Given the description of an element on the screen output the (x, y) to click on. 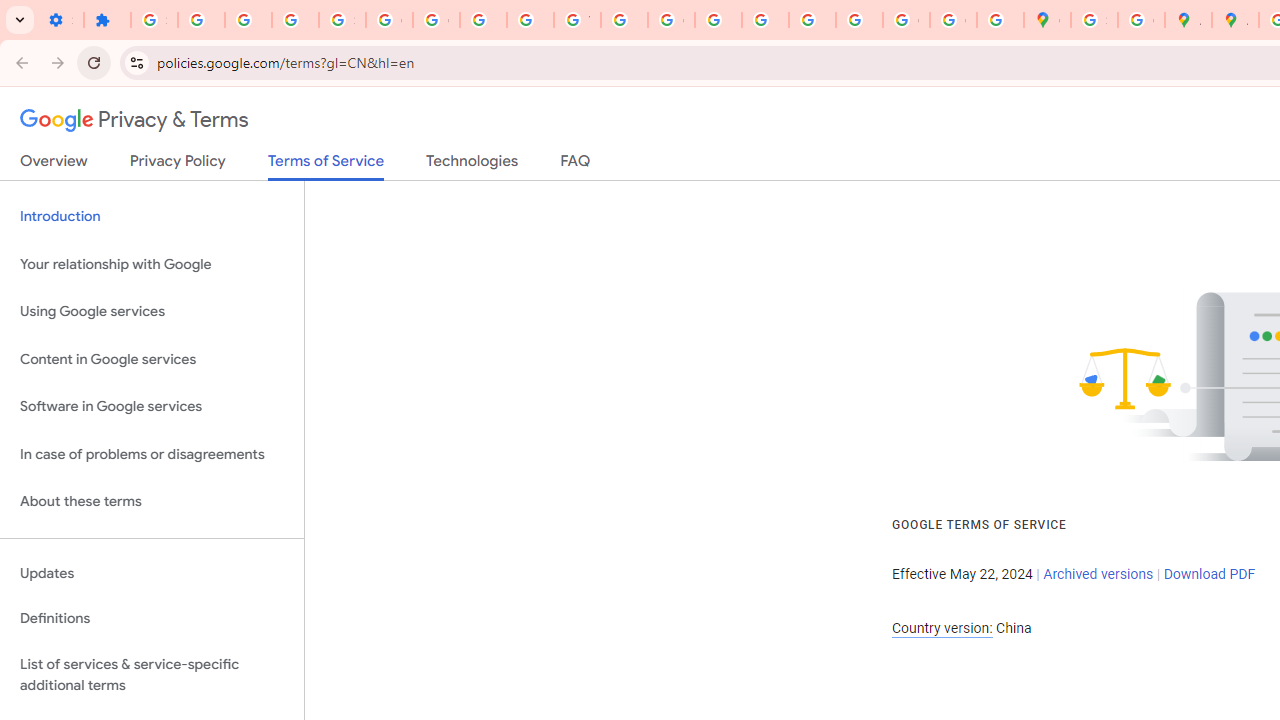
https://scholar.google.com/ (623, 20)
Settings - On startup (60, 20)
Download PDF (1209, 574)
YouTube (577, 20)
Create your Google Account (1140, 20)
Using Google services (152, 312)
Definitions (152, 619)
Delete photos & videos - Computer - Google Photos Help (201, 20)
Country version: (942, 628)
Sign in - Google Accounts (153, 20)
Your relationship with Google (152, 263)
